Given the description of an element on the screen output the (x, y) to click on. 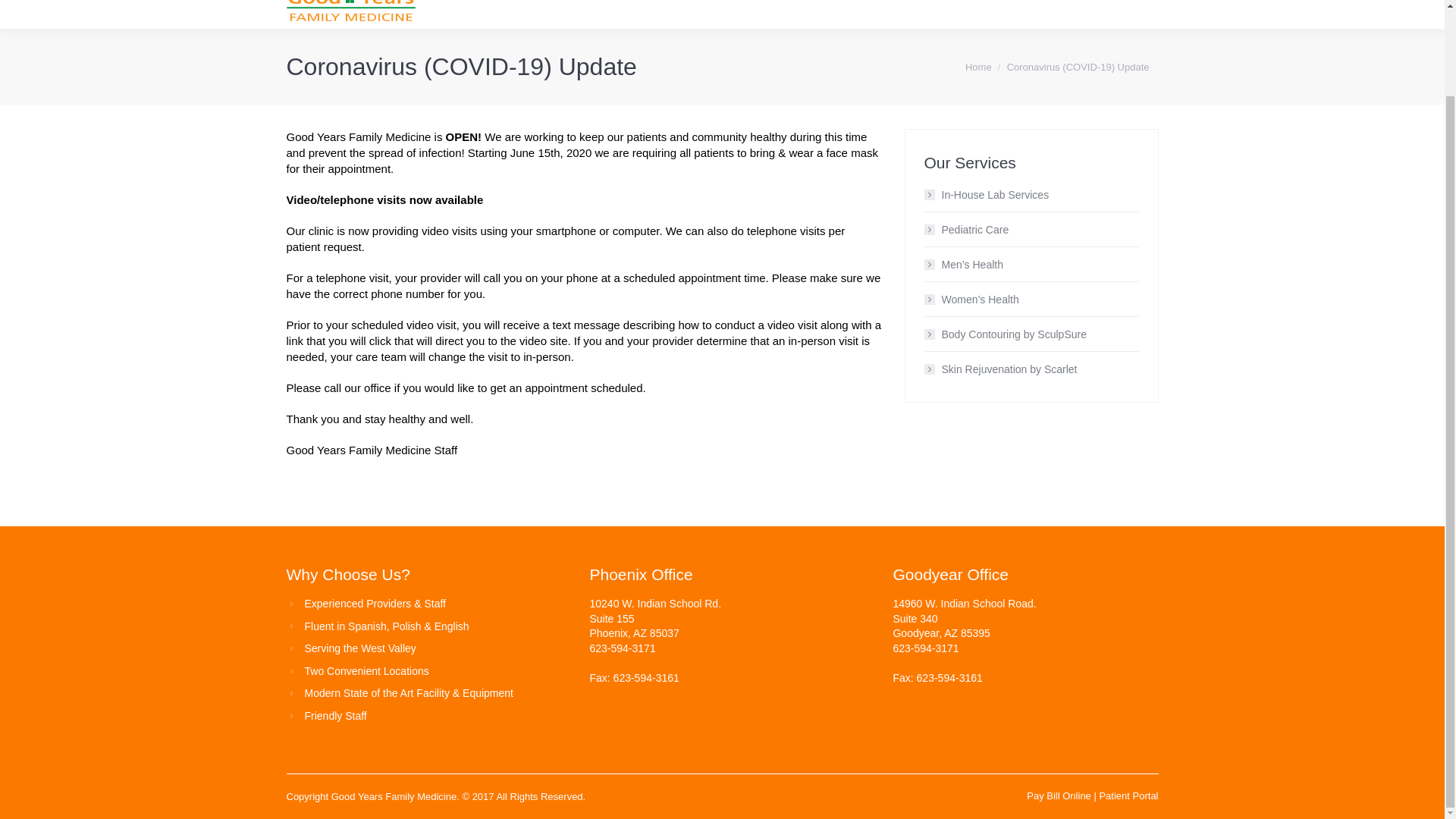
Home (978, 66)
Services (763, 14)
Contact Us (1116, 14)
Pediatric Care (966, 229)
Home (978, 66)
Patient Resources (1007, 14)
Insurance Accepted (874, 14)
About Us (677, 14)
In-House Lab Services (985, 194)
Home (600, 14)
